Given the description of an element on the screen output the (x, y) to click on. 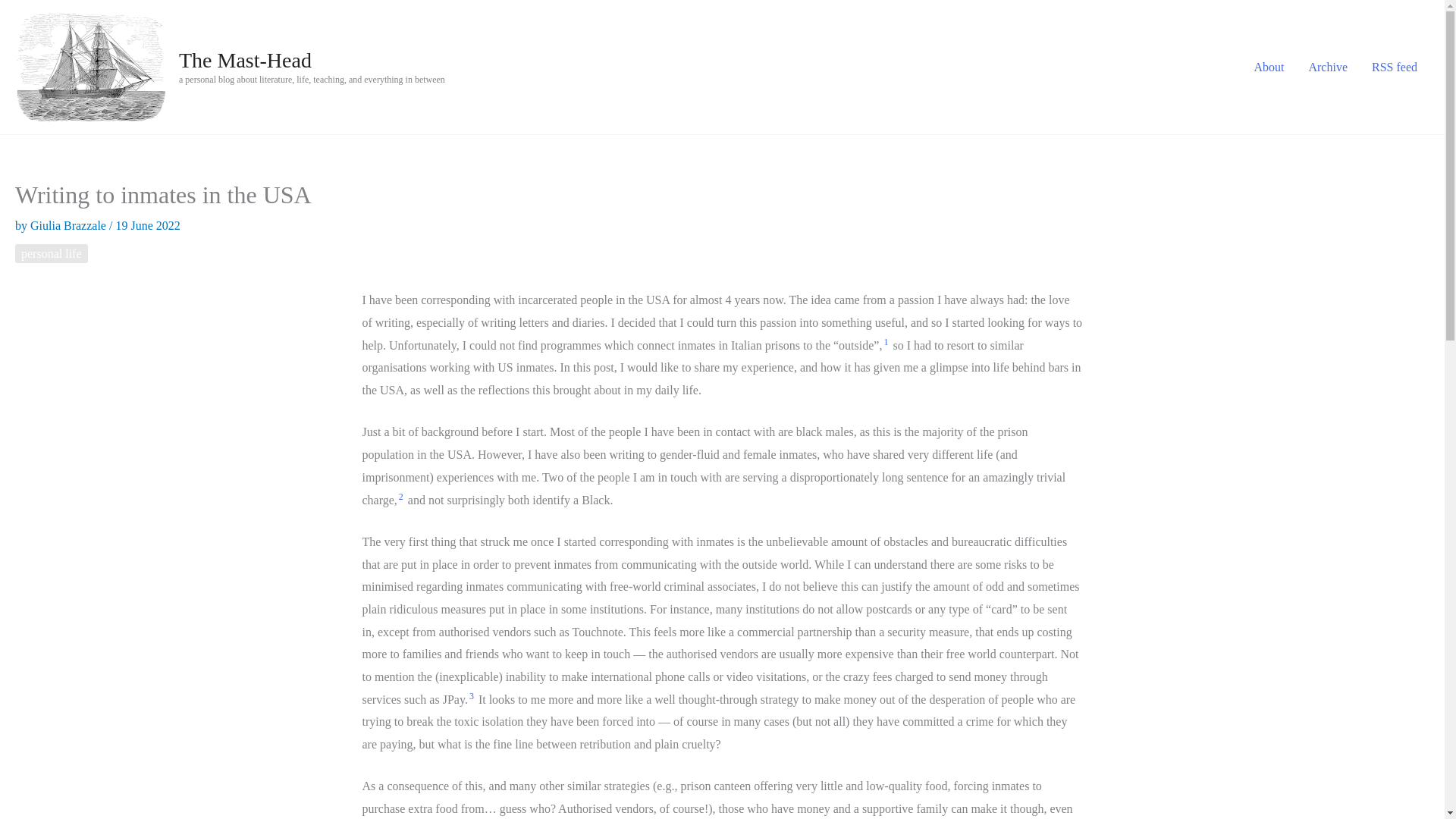
The Mast-Head (245, 60)
Giulia Brazzale (69, 225)
View all posts by Giulia Brazzale (69, 225)
About (1268, 66)
Archive (1327, 66)
personal life (50, 253)
RSS feed (1394, 66)
